Given the description of an element on the screen output the (x, y) to click on. 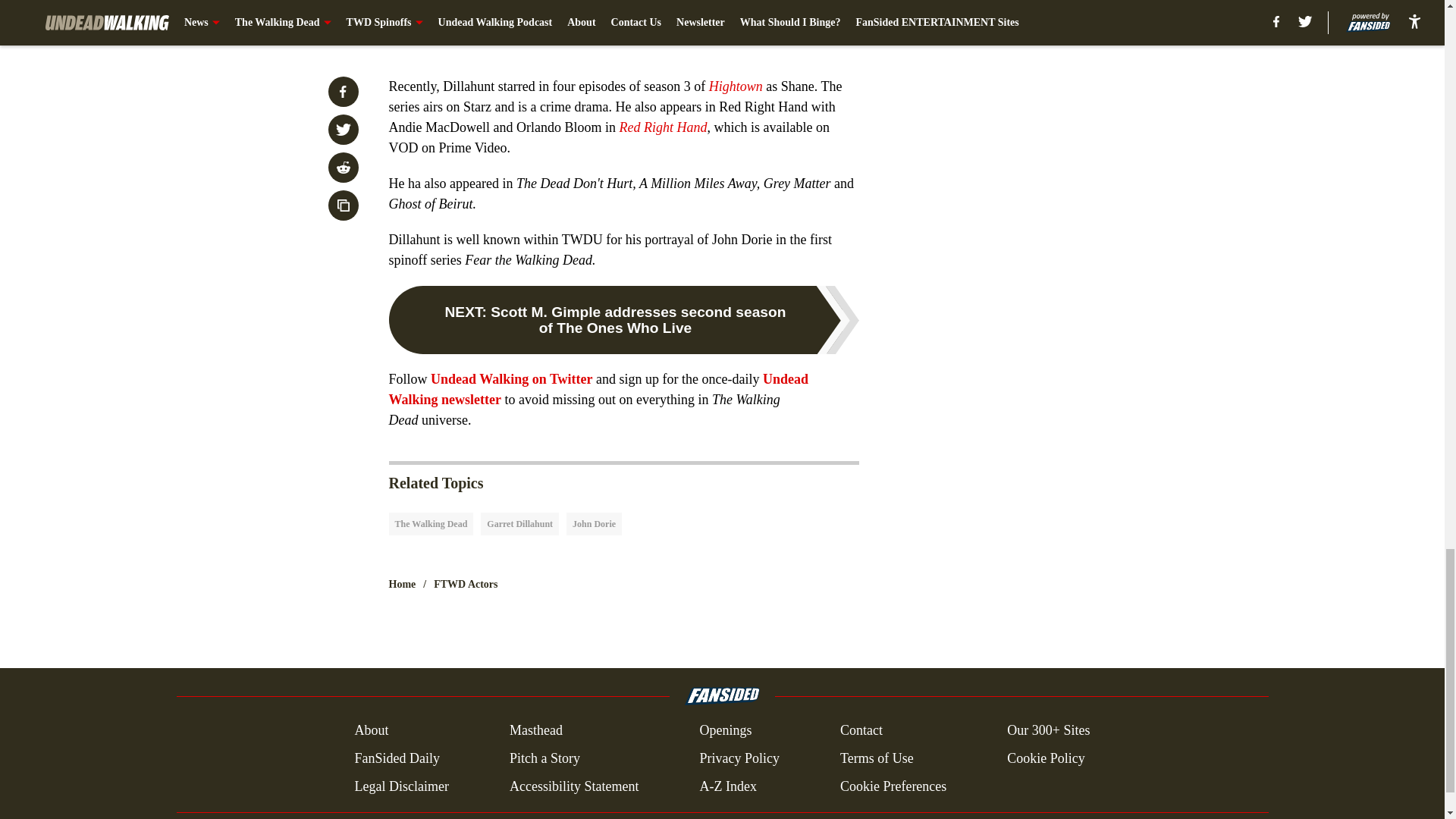
Undead Walking on Twitter (511, 378)
Hightown (735, 86)
Red Right Hand (662, 127)
